Given the description of an element on the screen output the (x, y) to click on. 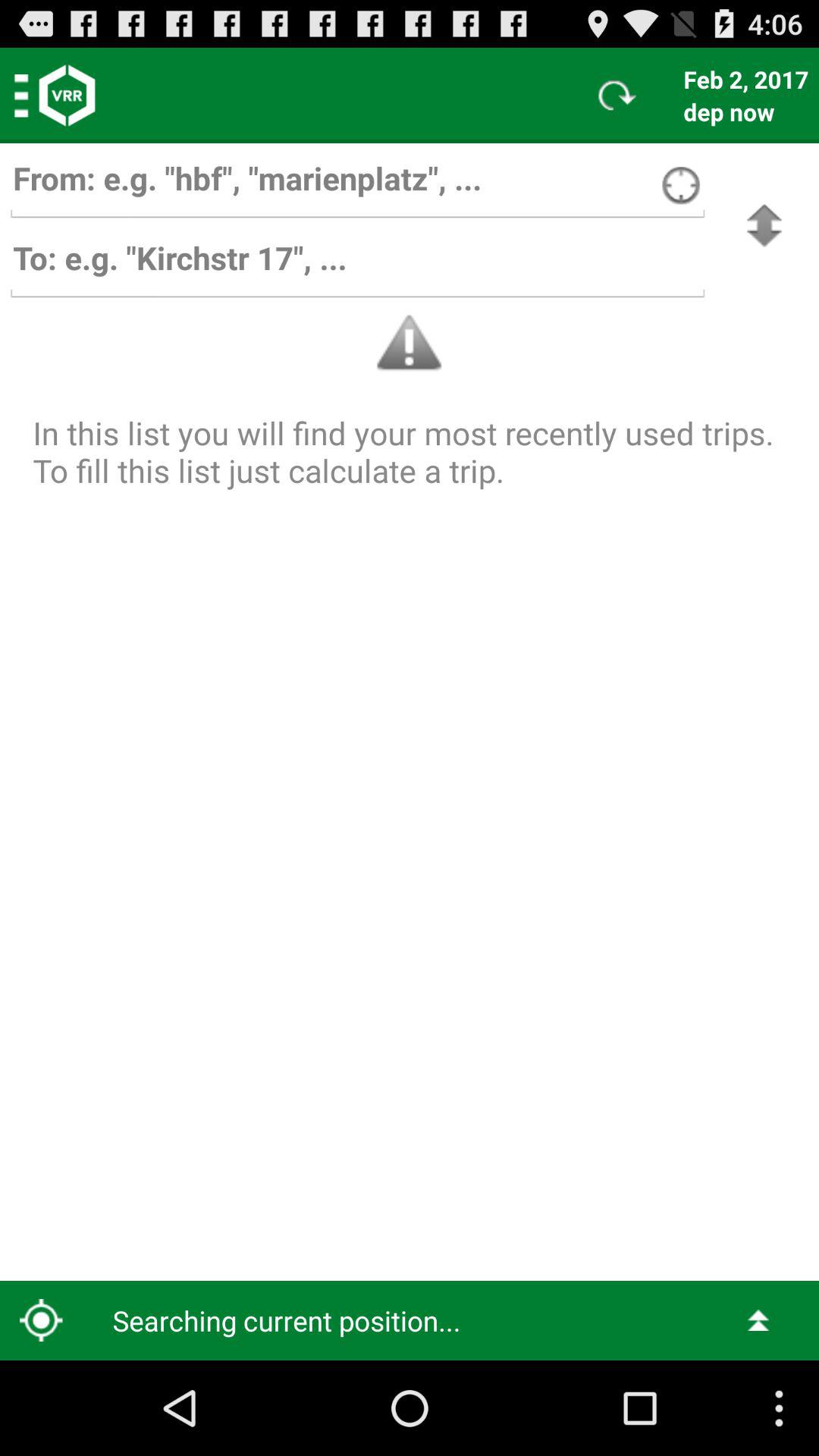
turn on icon to the left of the feb 2, 2017 item (617, 95)
